Given the description of an element on the screen output the (x, y) to click on. 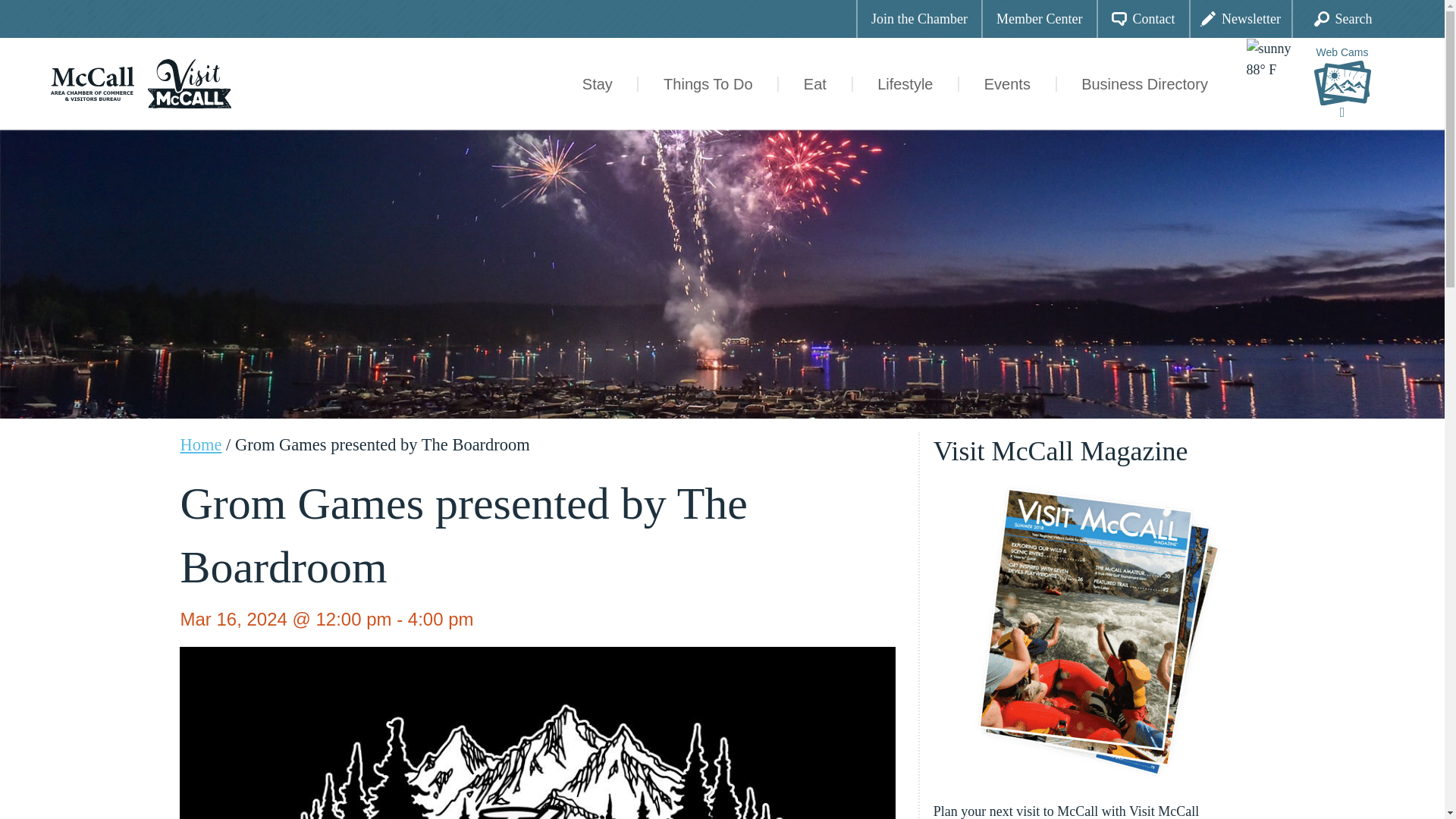
Member Center (1038, 18)
Search (1342, 18)
McCall Chamber (91, 82)
Newsletter (1240, 18)
Things To Do (708, 83)
Join the Chamber (919, 18)
Join the Chamber (918, 18)
Lifestyle (904, 83)
Contact (1142, 18)
